Given the description of an element on the screen output the (x, y) to click on. 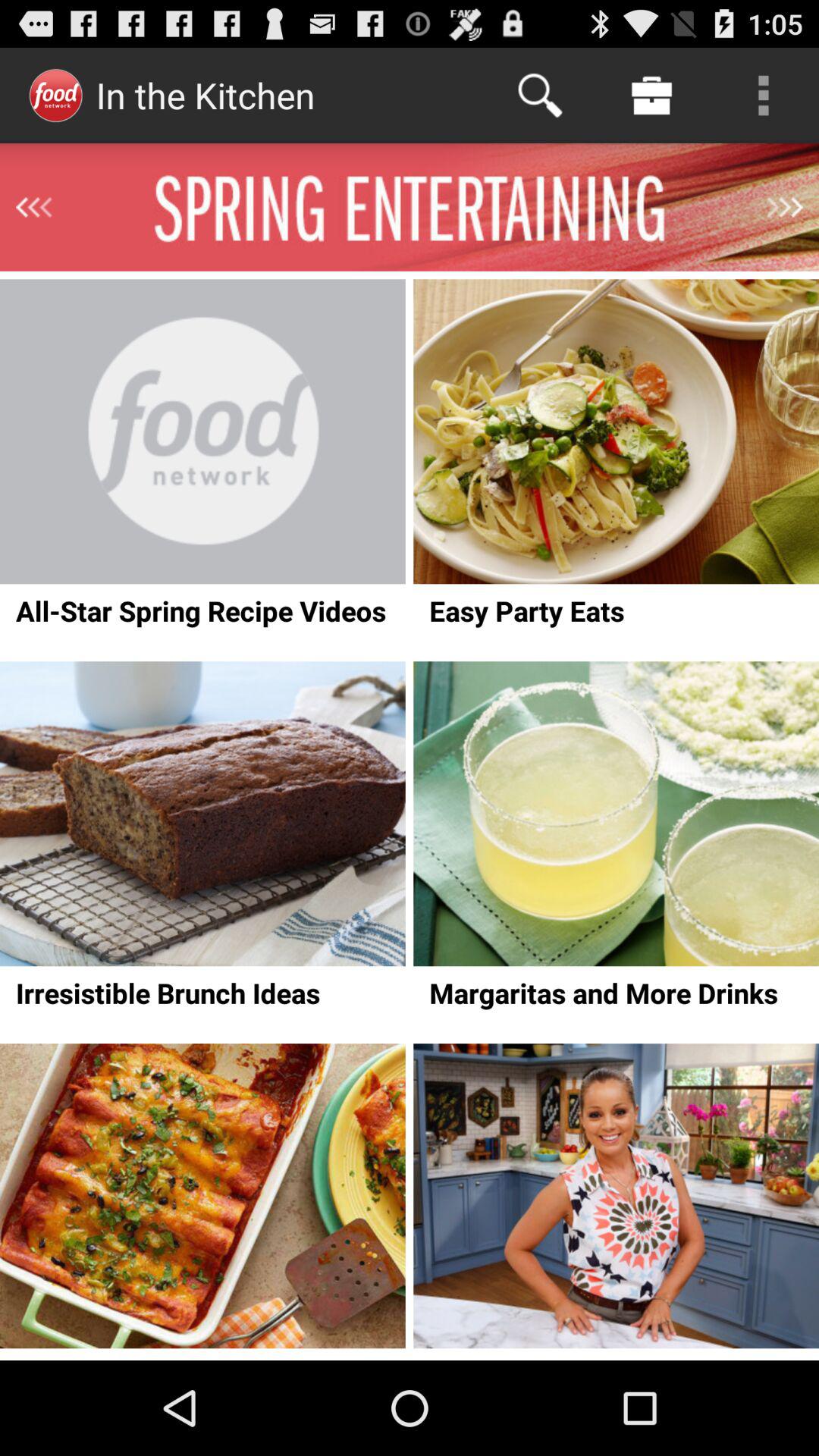
go to next section (785, 207)
